Given the description of an element on the screen output the (x, y) to click on. 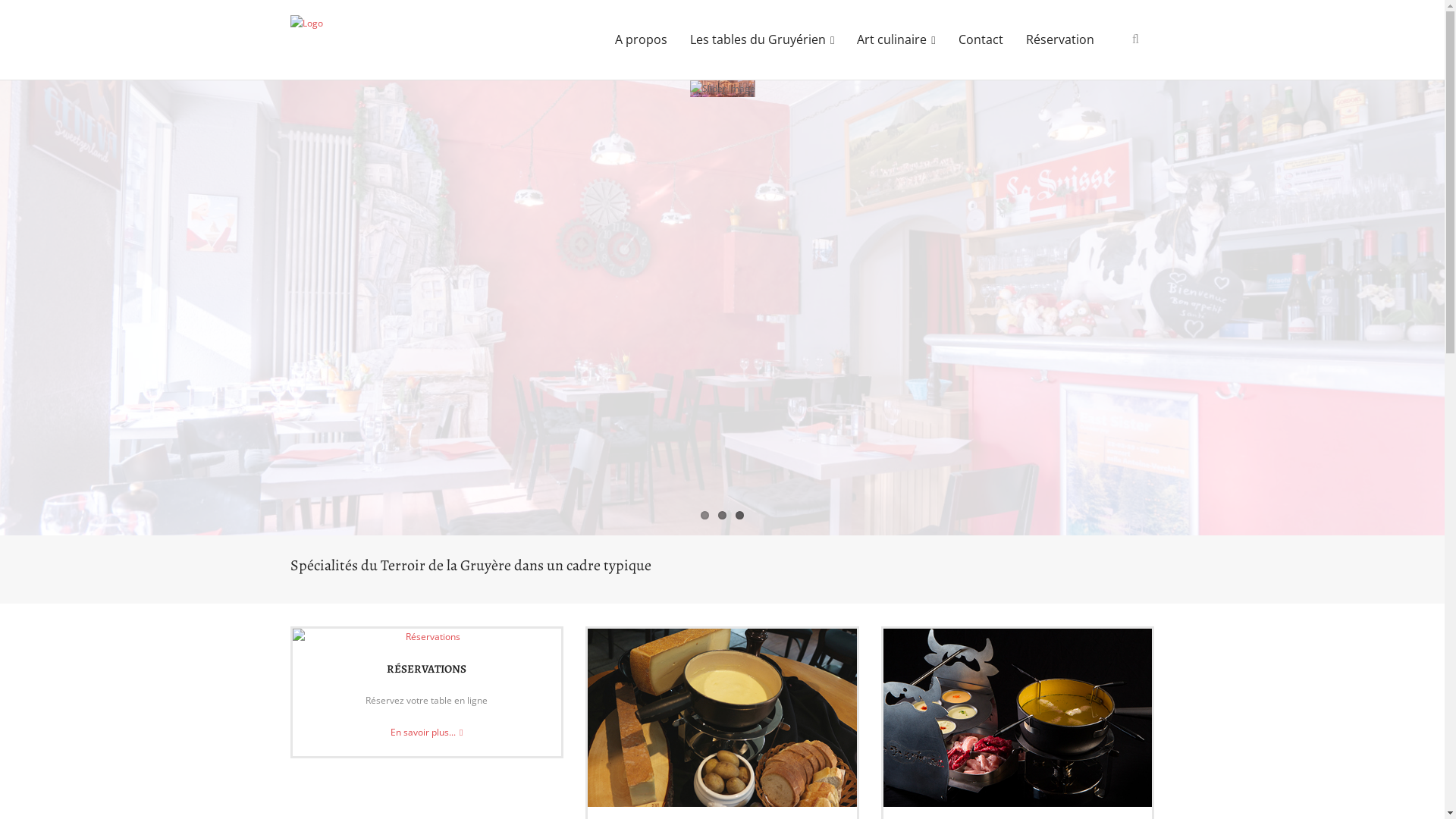
1 Element type: text (704, 515)
En savoir plus... Element type: text (426, 731)
3 Element type: text (739, 515)
Art culinaire Element type: text (895, 39)
Search Element type: text (33, 15)
Contact Element type: text (979, 39)
A propos Element type: text (640, 39)
2 Element type: text (722, 515)
